Given the description of an element on the screen output the (x, y) to click on. 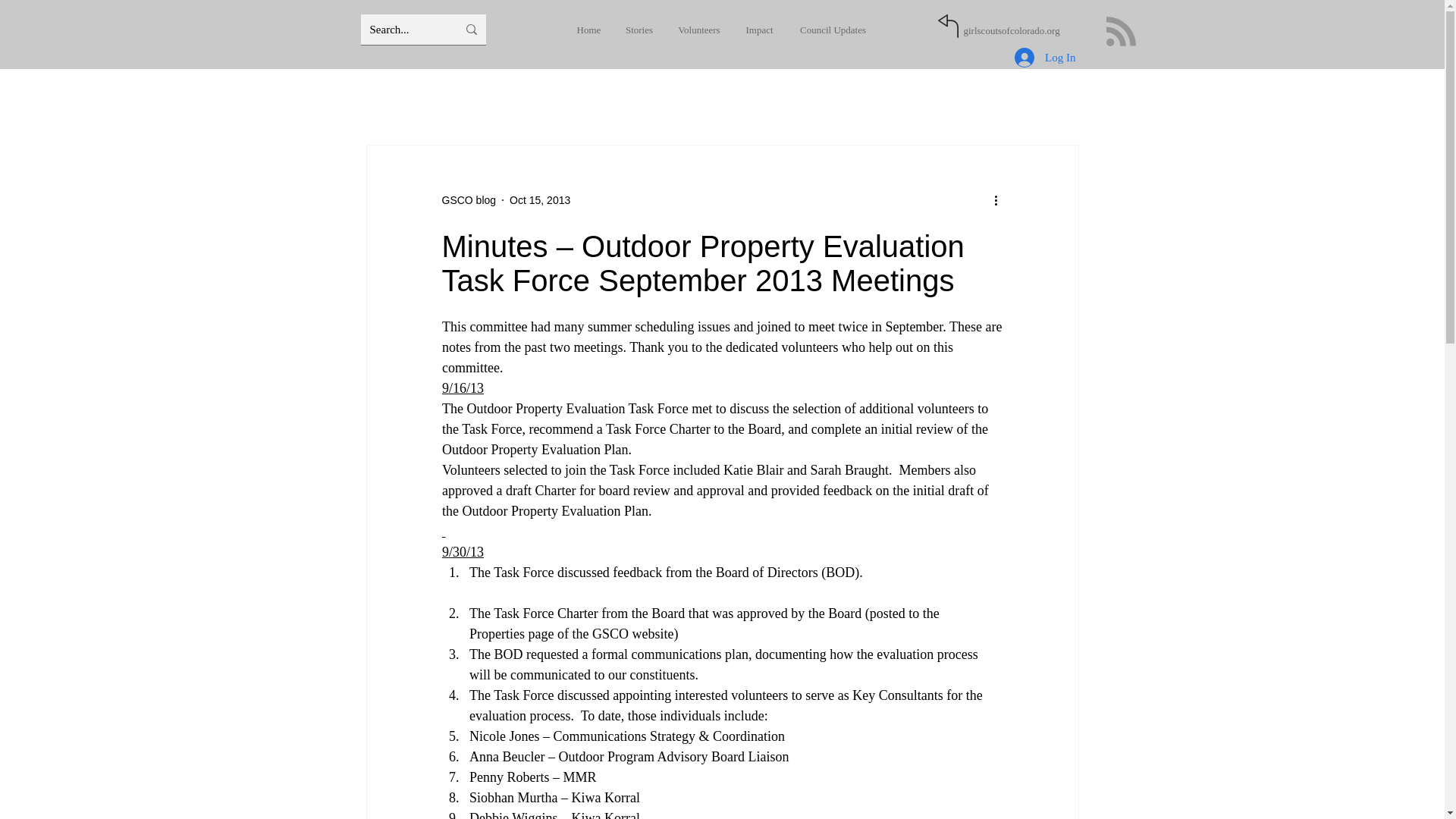
girlscoutsofcolorado.org (1010, 30)
Council Updates (828, 29)
Volunteers (700, 29)
Home (595, 29)
Oct 15, 2013 (539, 200)
GSCO blog (468, 200)
Impact (758, 29)
Stories (643, 29)
GSCO blog (468, 200)
Log In (1045, 57)
